Given the description of an element on the screen output the (x, y) to click on. 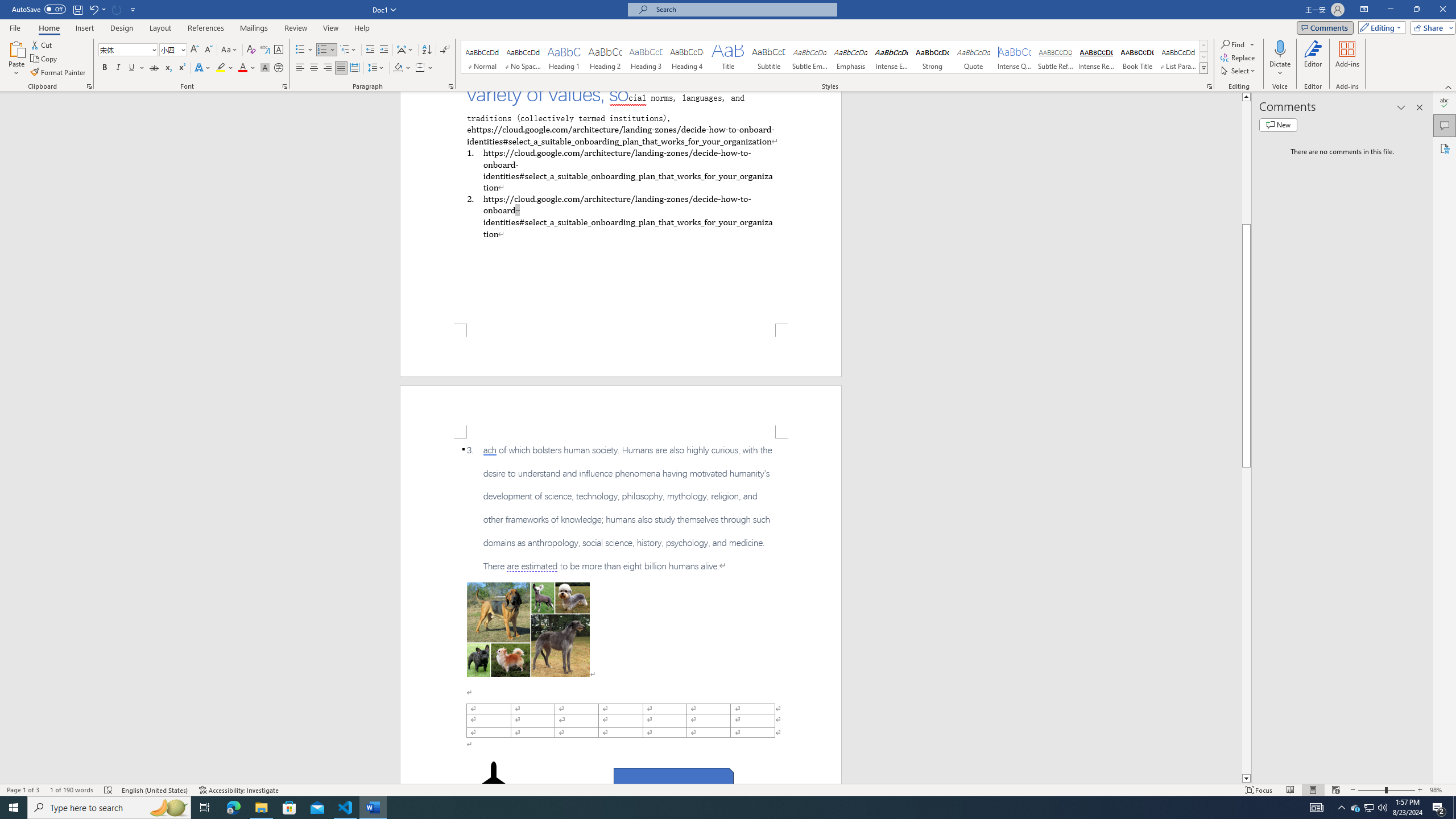
Heading 2 (605, 56)
Italic (118, 67)
AutomationID: QuickStylesGallery (834, 56)
Editing (1379, 27)
Increase Indent (383, 49)
Shading RGB(0, 0, 0) (397, 67)
Line down (1245, 778)
Replace... (1237, 56)
Page 2 content (620, 610)
